Given the description of an element on the screen output the (x, y) to click on. 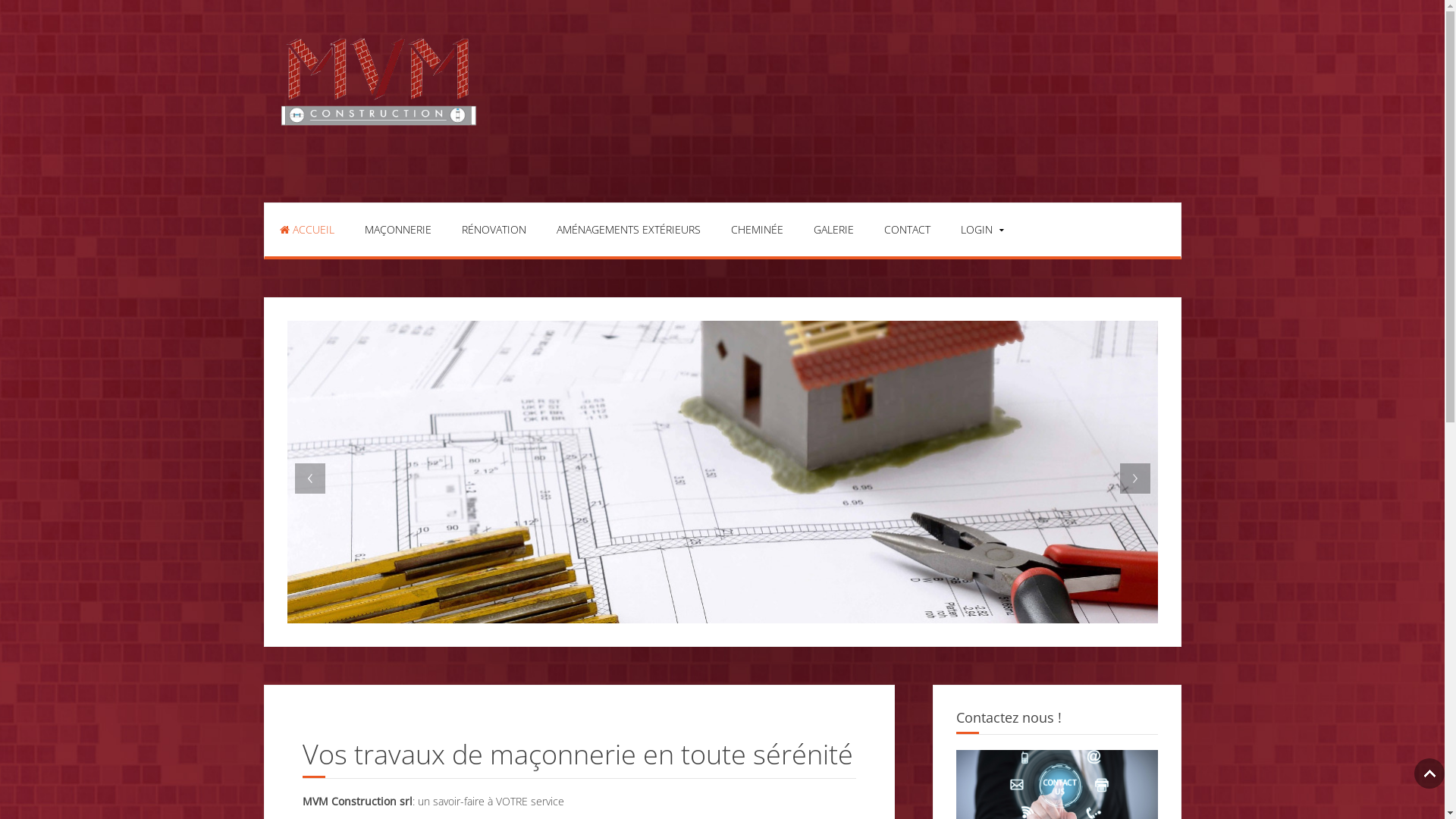
LOGIN Element type: text (977, 229)
CONTACT Element type: text (907, 229)
GALERIE Element type: text (832, 229)
ACCUEIL Element type: text (305, 229)
